Given the description of an element on the screen output the (x, y) to click on. 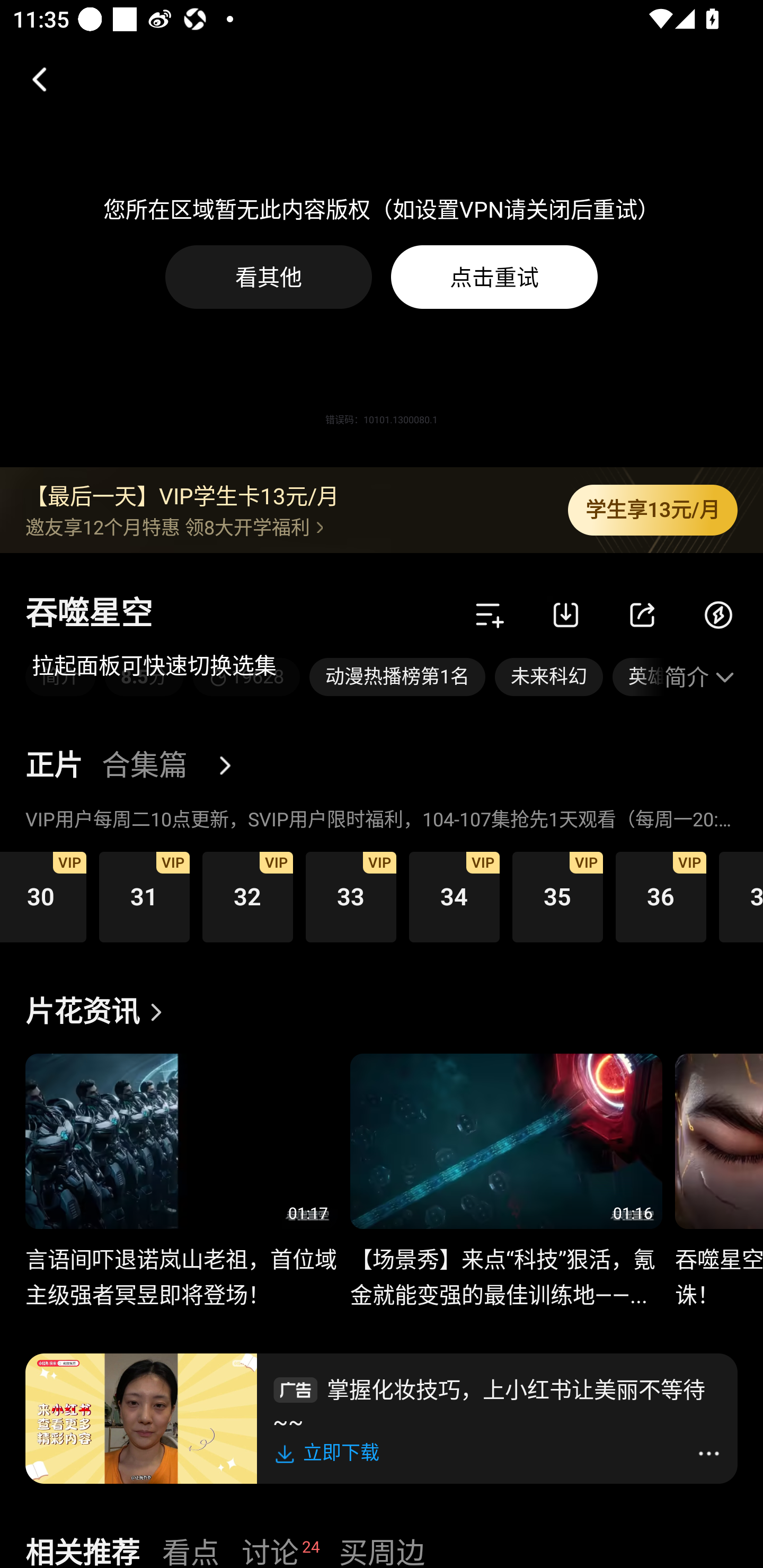
返回，按钮 (31, 78)
看其他 您所在区域暂无此内容版权（如设置VPN请关闭后重试） 看其他按钮 (268, 276)
点击重试 您所在区域暂无此内容版权（如设置VPN请关闭后重试） 点击重试按钮 (493, 276)
学生享13元/月 (652, 510)
邀友享12个月特惠 领8大开学福利 (283, 526)
吞噬星空 (88, 614)
加追,双击可加追,按钮 (489, 614)
下载,链接 (566, 614)
分享,链接 (642, 614)
发电,链接 (718, 614)
简介 简介,链接 (60, 677)
8.5分 8.5分,链接 (144, 677)
19628 热度值 19628,链接 (246, 677)
动漫热播榜第1名 动漫热播榜第1名,链接 (397, 677)
未来科幻 未来科幻,链接 (548, 677)
英雄成长 英雄成长,链接 (638, 677)
简介 (700, 677)
正片 (53, 765)
合集篇 (144, 765)
更多,链接 (231, 765)
第30集 30 (43, 896)
第31集 31 (144, 896)
第32集 32 (247, 896)
第33集 33 (350, 896)
第34集 34 (453, 896)
第35集 35 (557, 896)
第36集 36 (660, 896)
片花资讯 链接 (98, 1011)
言语间吓退诺岚山老祖，首位域主级强者冥昱即将登场！ (181, 1267)
【场景秀】来点“科技”狠活，氪金就能变强的最佳训练地——... (506, 1267)
imgimg掌握化妆技巧，上小红书让美丽不等待~~ (497, 1403)
立即下载 (330, 1452)
相关推荐 (82, 1549)
看点 (190, 1549)
讨论 (270, 1549)
买周边 (381, 1549)
